Given the description of an element on the screen output the (x, y) to click on. 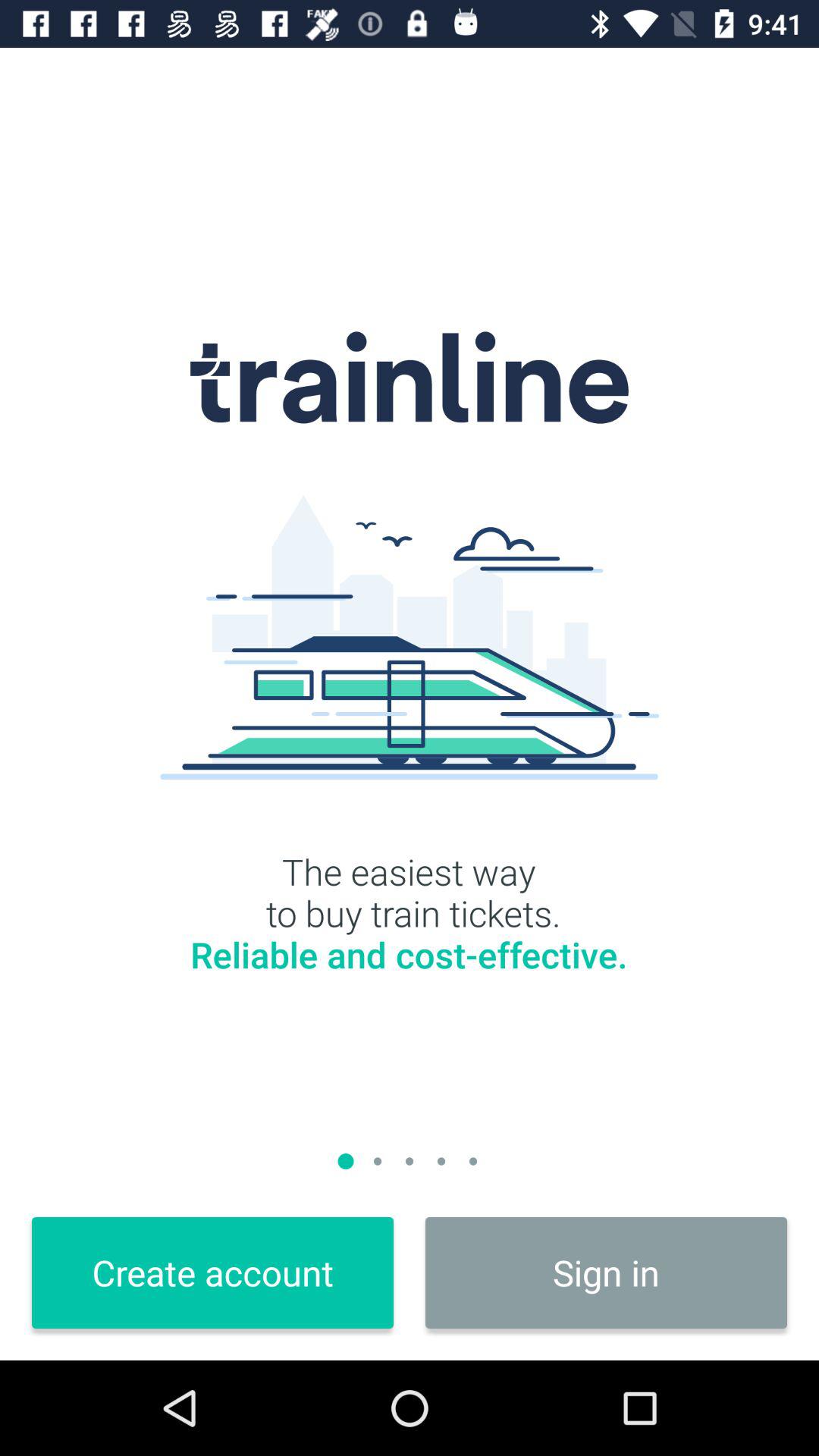
click the item next to sign in item (212, 1272)
